Given the description of an element on the screen output the (x, y) to click on. 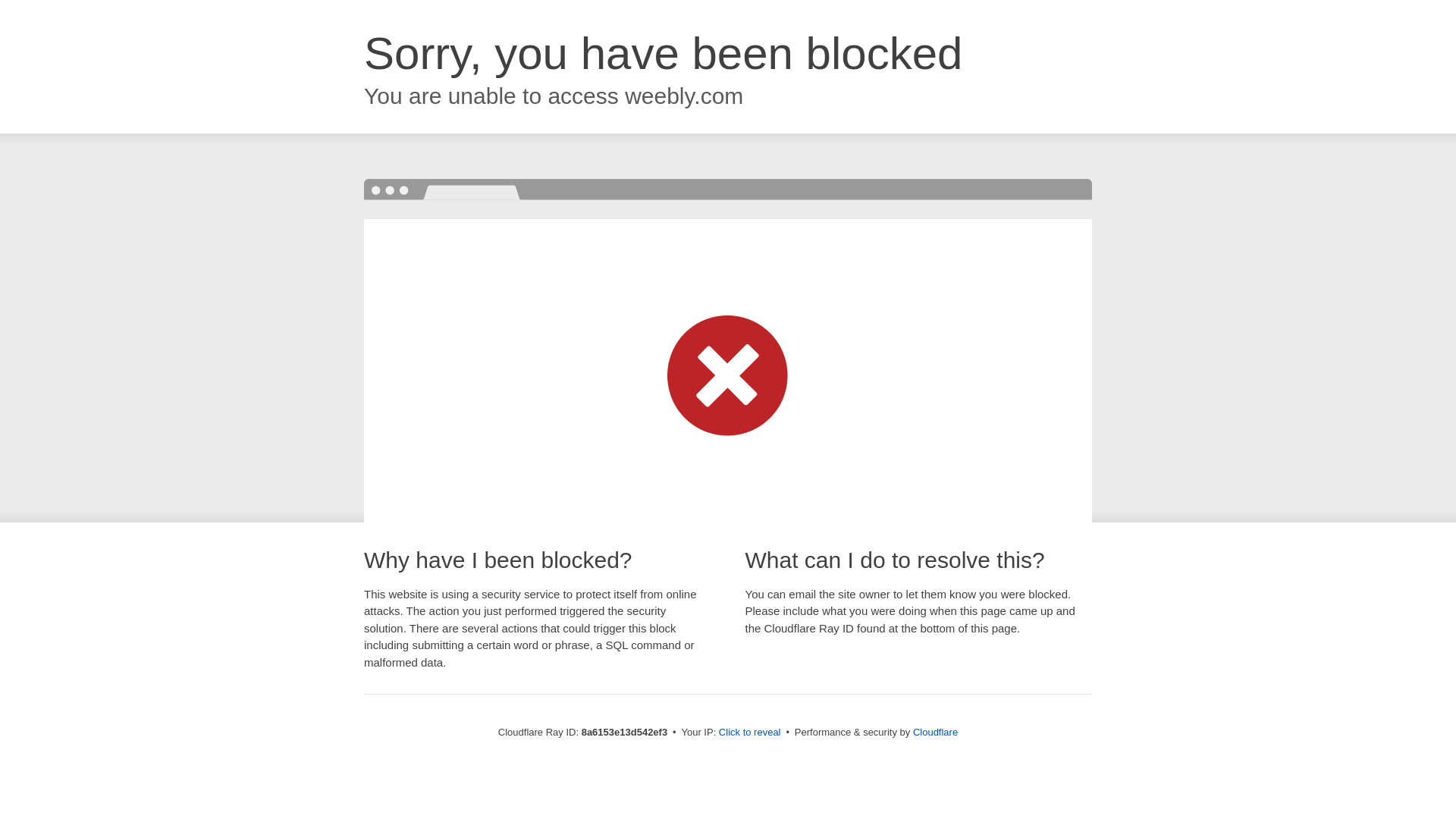
Click to reveal (749, 732)
Cloudflare (935, 731)
